Given the description of an element on the screen output the (x, y) to click on. 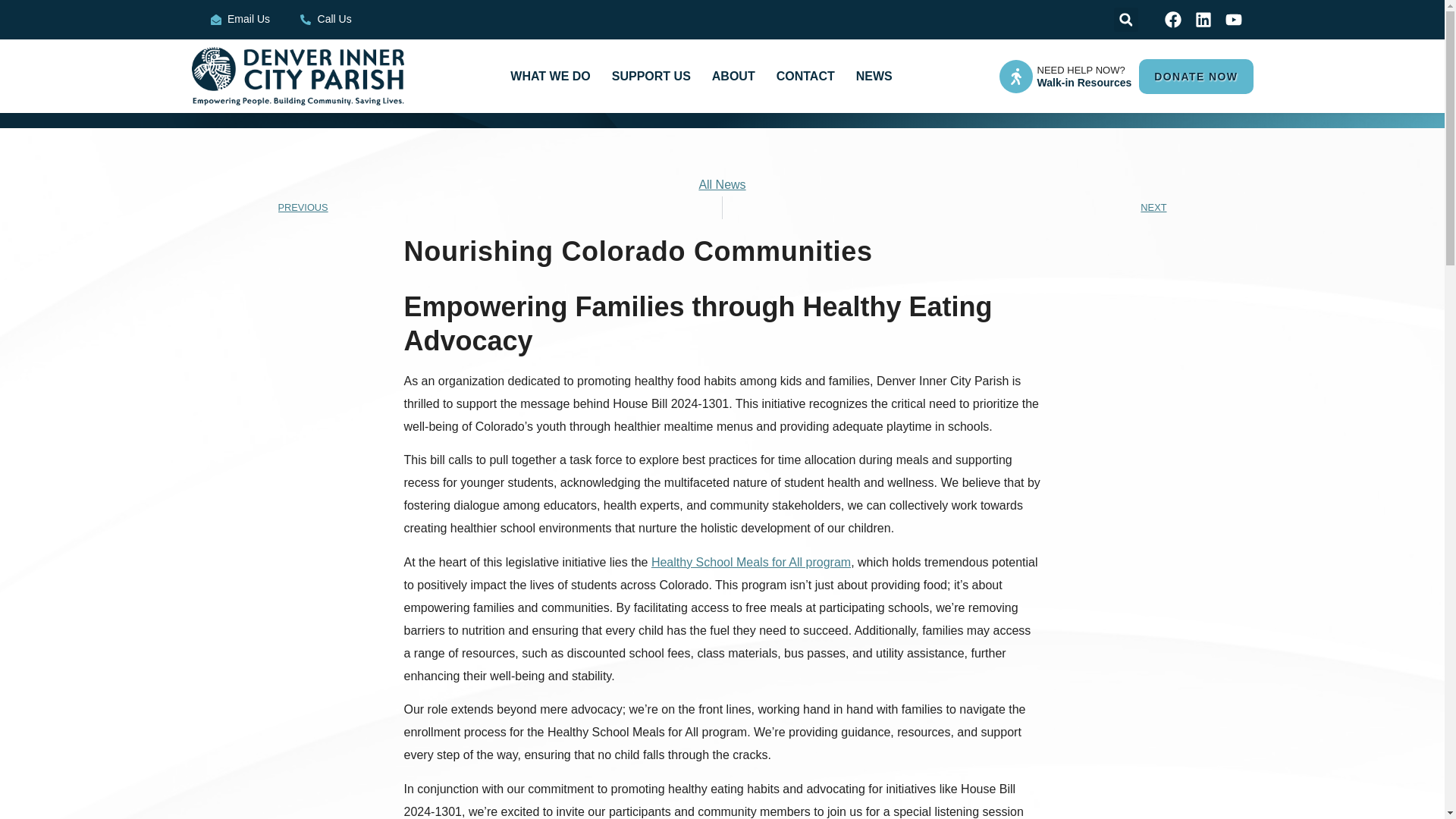
Email Us (240, 19)
CONTACT (805, 76)
SUPPORT US (651, 76)
WHAT WE DO (549, 76)
ABOUT (733, 76)
NEWS (873, 76)
Call Us (325, 19)
